Given the description of an element on the screen output the (x, y) to click on. 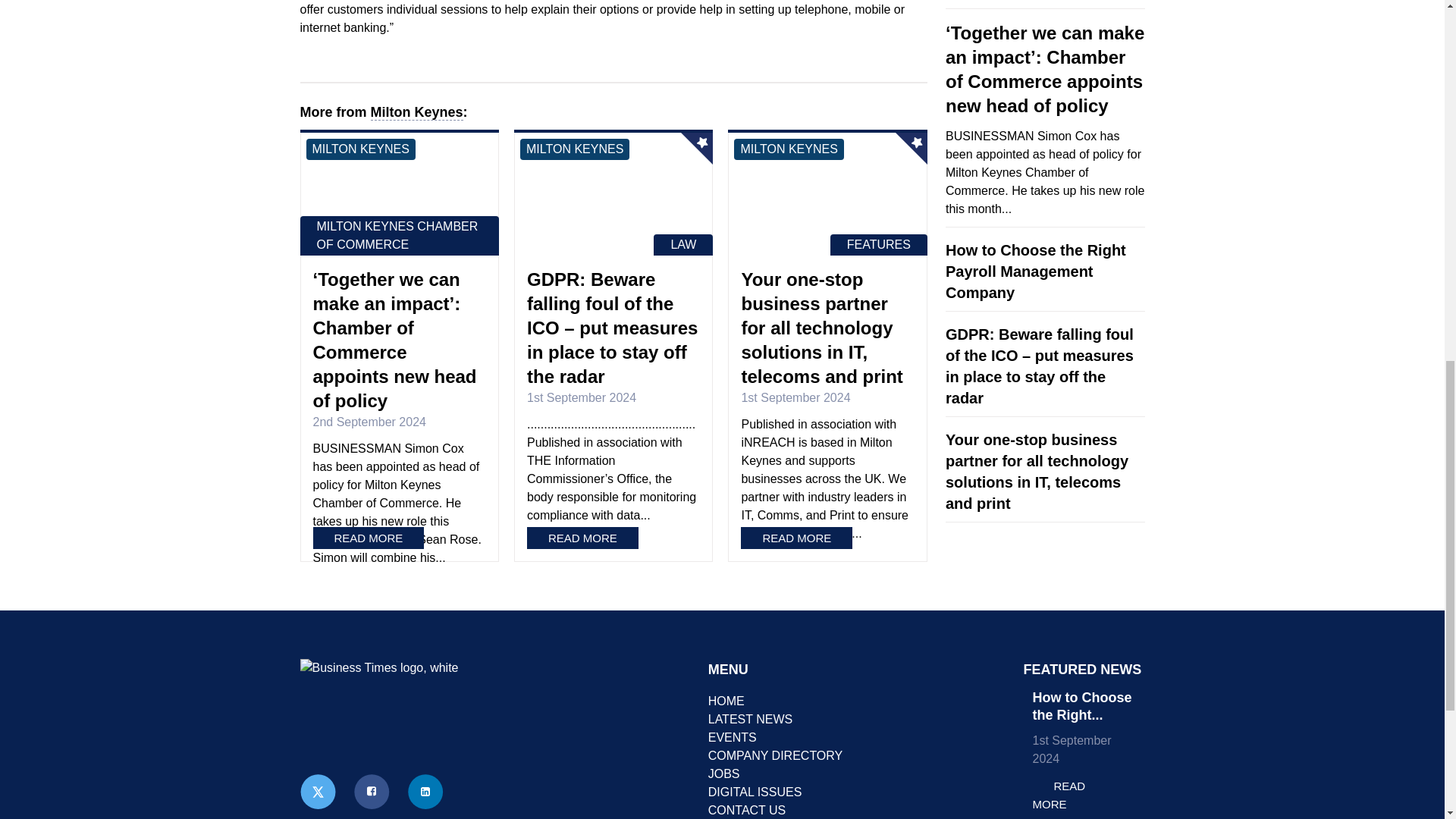
See all law (683, 244)
See all milton keynes (573, 148)
See all milton keynes (359, 148)
See all milton keynes chamber of commerce (399, 235)
